Given the description of an element on the screen output the (x, y) to click on. 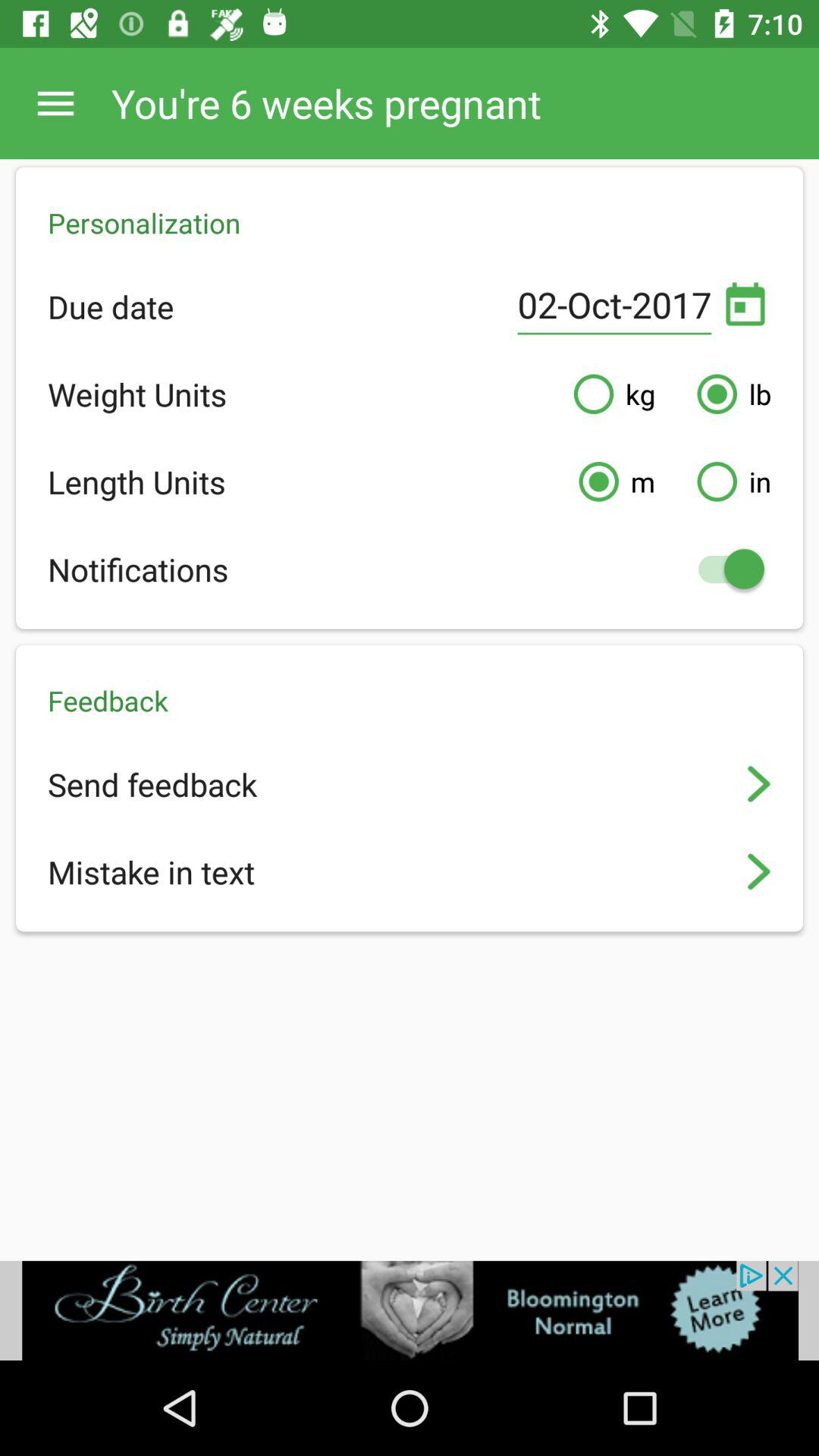
show in notifications on (723, 569)
